Given the description of an element on the screen output the (x, y) to click on. 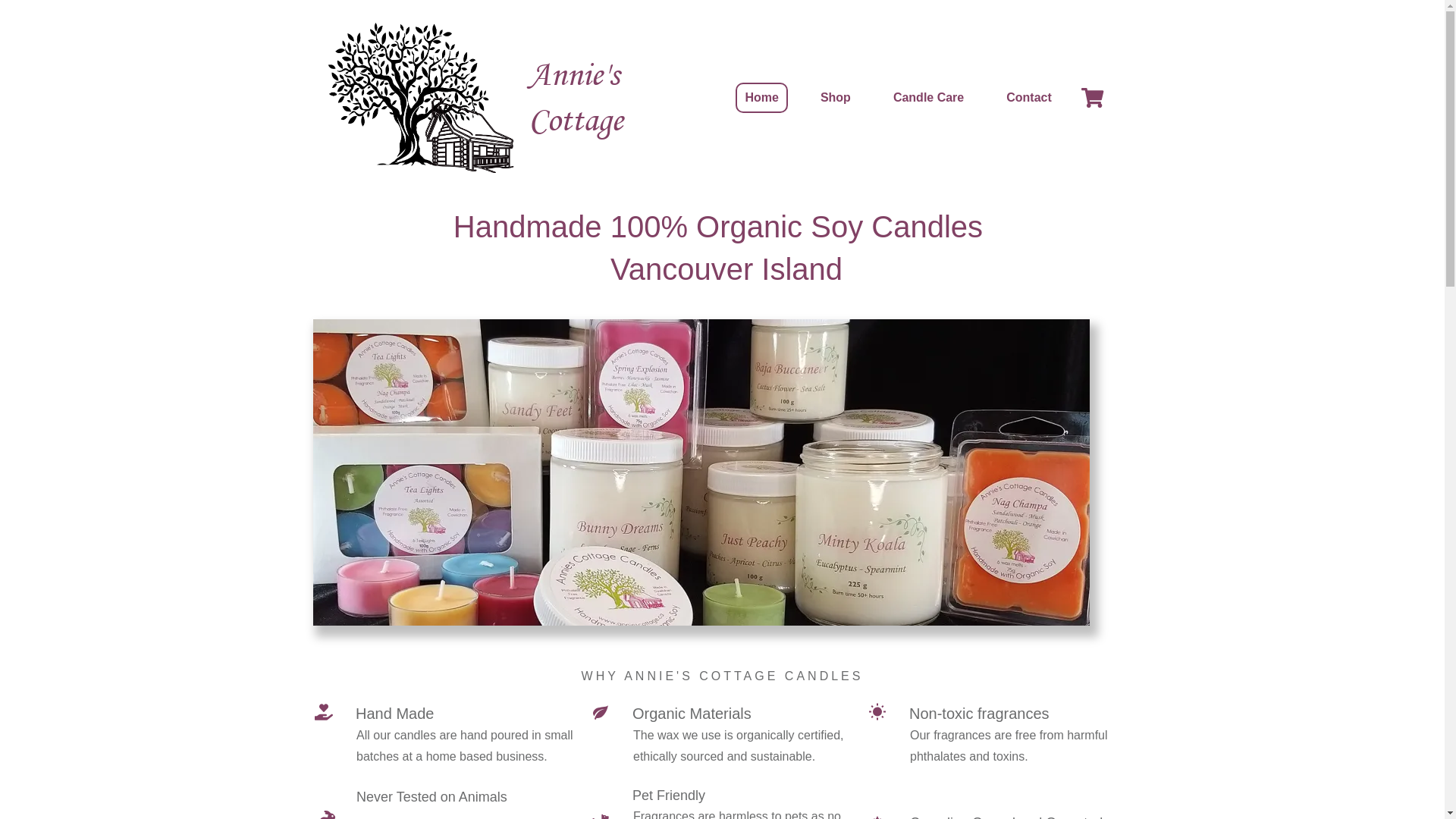
Contact Element type: text (1028, 97)
Shop Element type: text (835, 97)
Home Element type: text (761, 97)
Candle Care Element type: text (928, 97)
all products Element type: hover (700, 476)
logo BnW Element type: hover (421, 97)
